Given the description of an element on the screen output the (x, y) to click on. 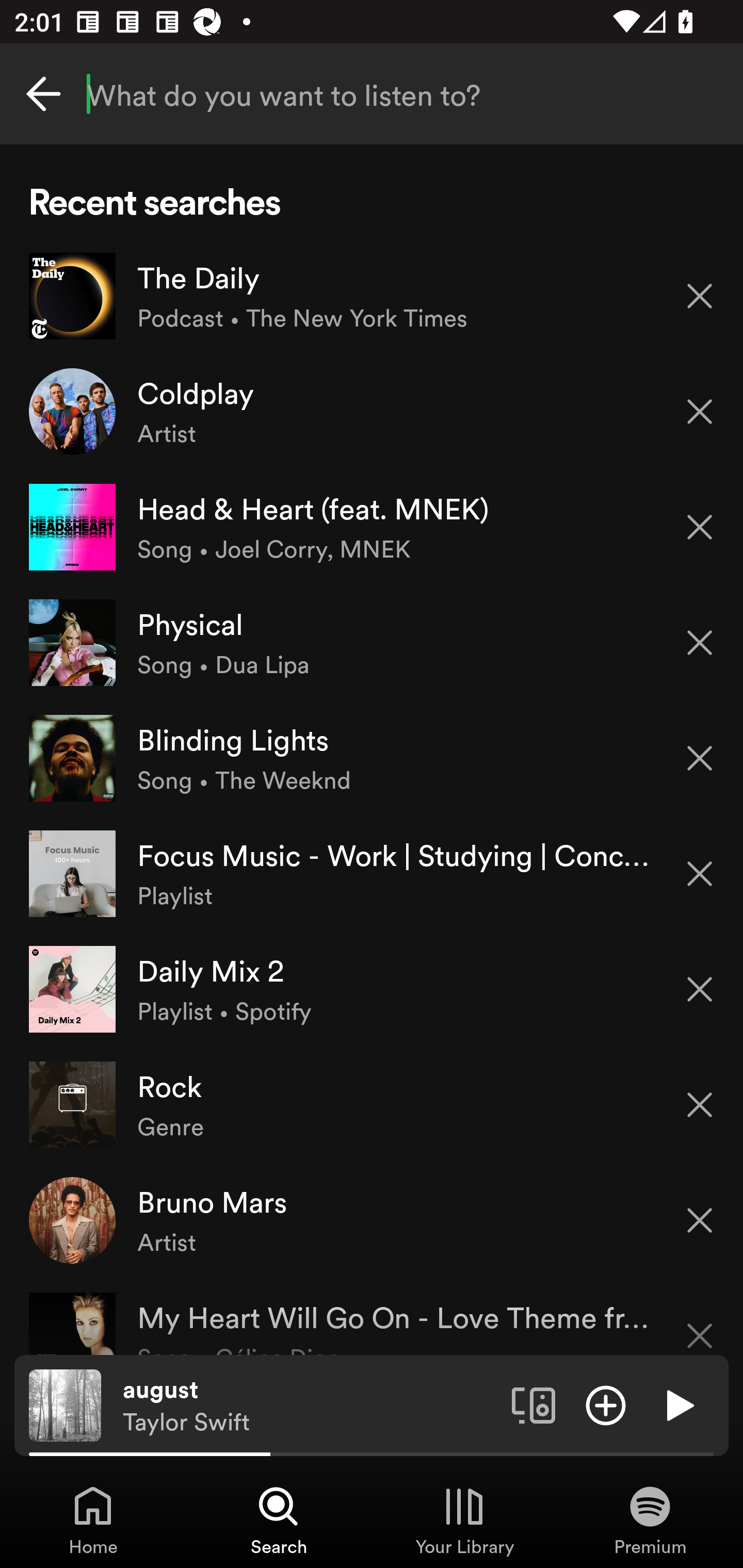
What do you want to listen to? (371, 93)
Cancel (43, 93)
The Daily Podcast • The New York Times Remove (371, 296)
Remove (699, 295)
Coldplay Artist Remove (371, 411)
Remove (699, 411)
Remove (699, 527)
Physical Song • Dua Lipa Remove (371, 642)
Remove (699, 642)
Blinding Lights Song • The Weeknd Remove (371, 757)
Remove (699, 758)
Remove (699, 874)
Daily Mix 2 Playlist • Spotify Remove (371, 989)
Remove (699, 989)
Rock Genre Remove (371, 1104)
Remove (699, 1104)
Bruno Mars Artist Remove (371, 1219)
Remove (699, 1220)
Remove (699, 1323)
august Taylor Swift (309, 1405)
The cover art of the currently playing track (64, 1404)
Connect to a device. Opens the devices menu (533, 1404)
Add item (605, 1404)
Play (677, 1404)
Home, Tab 1 of 4 Home Home (92, 1519)
Search, Tab 2 of 4 Search Search (278, 1519)
Your Library, Tab 3 of 4 Your Library Your Library (464, 1519)
Premium, Tab 4 of 4 Premium Premium (650, 1519)
